Given the description of an element on the screen output the (x, y) to click on. 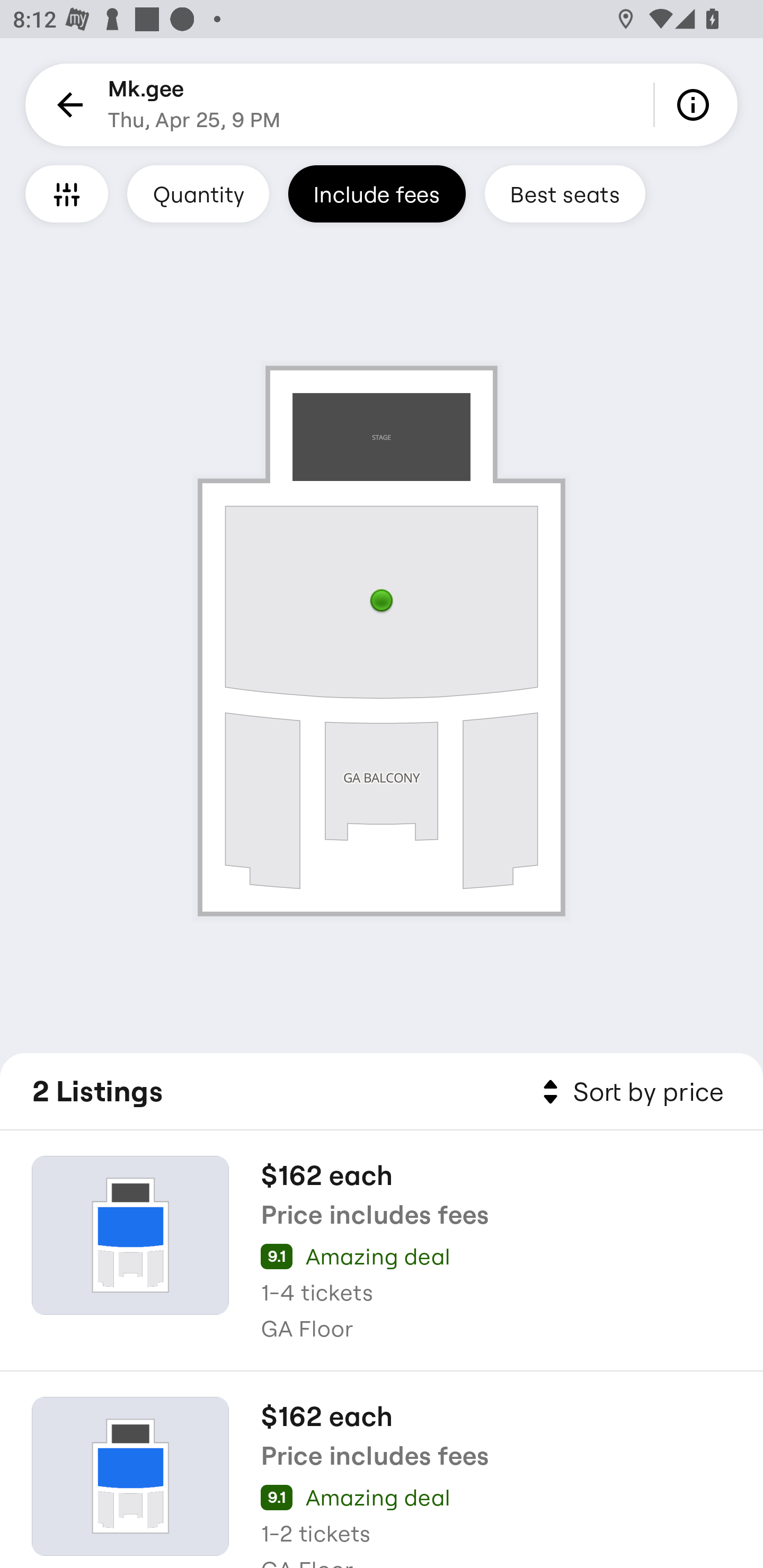
Back Mk.gee Thu, Apr 25, 9 PM Info (381, 104)
Back (66, 104)
Mk.gee Thu, Apr 25, 9 PM (194, 104)
Info (695, 104)
Filters and Accessible Seating (66, 193)
Quantity (198, 193)
Include fees (376, 193)
Best seats (564, 193)
Sort by price (629, 1091)
